Given the description of an element on the screen output the (x, y) to click on. 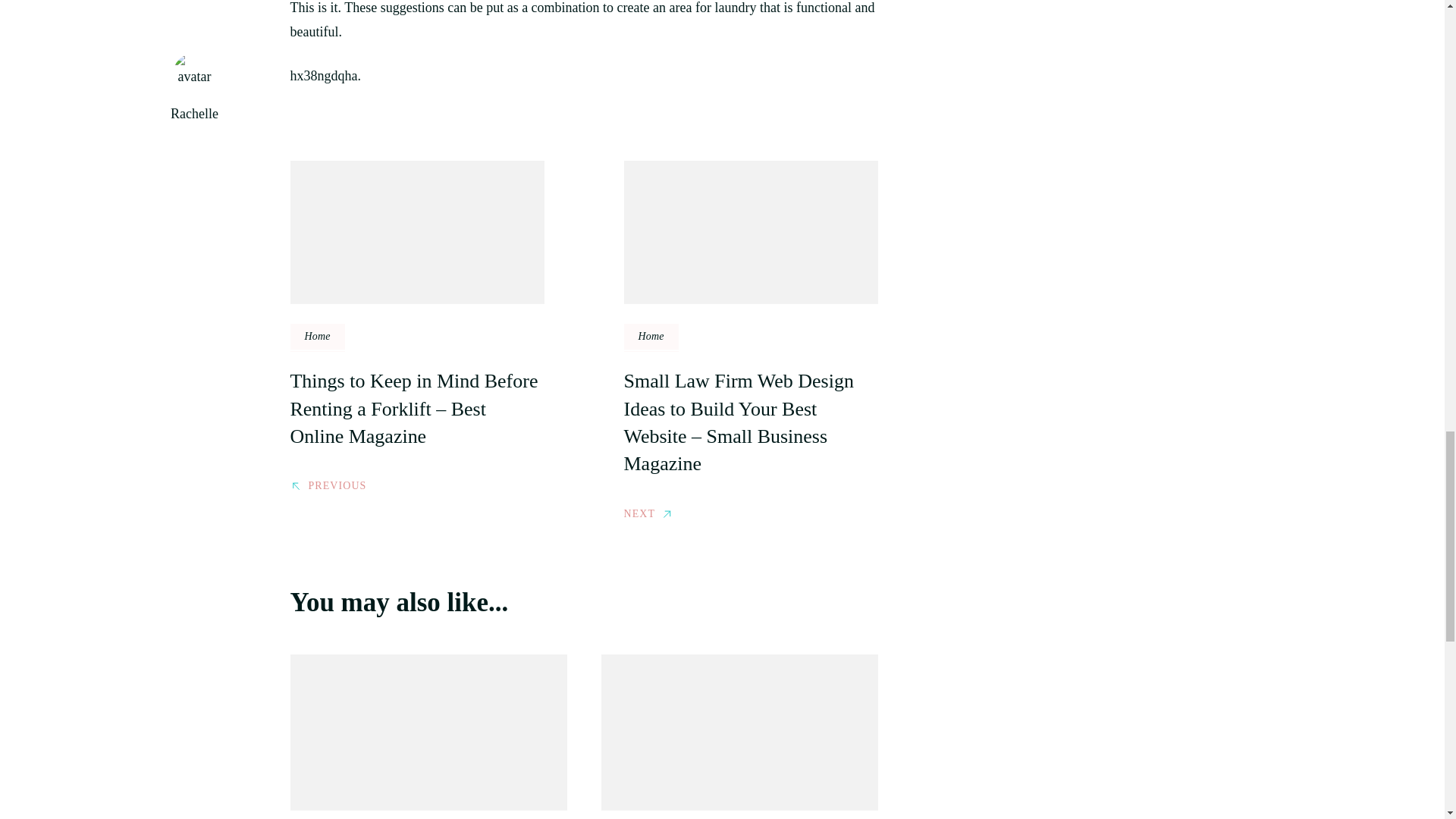
Home (650, 336)
PREVIOUS (327, 484)
NEXT (647, 512)
Home (316, 336)
